Given the description of an element on the screen output the (x, y) to click on. 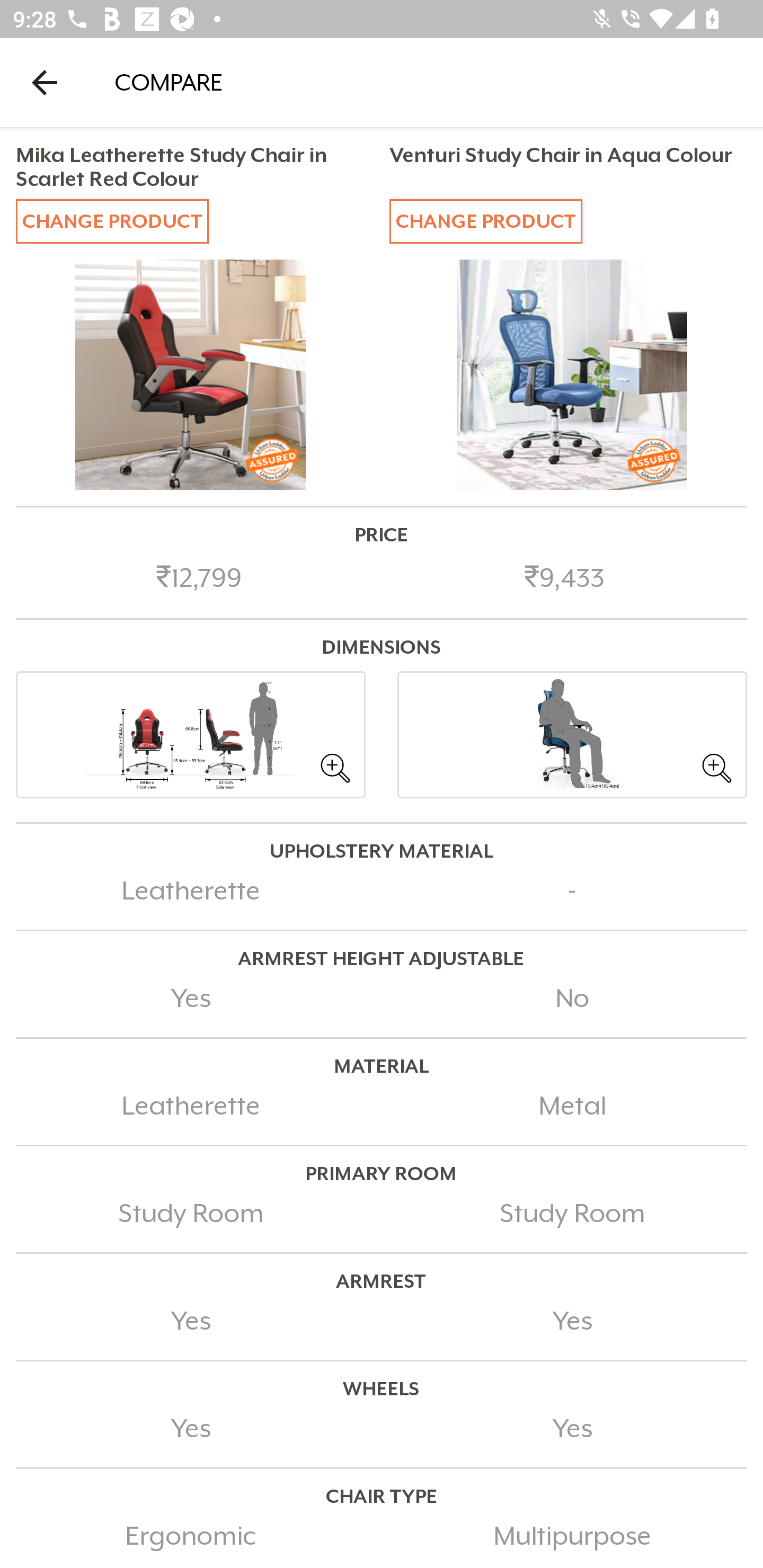
Navigate up (44, 82)
CHANGE PRODUCT (112, 221)
CHANGE PRODUCT (485, 221)
